Given the description of an element on the screen output the (x, y) to click on. 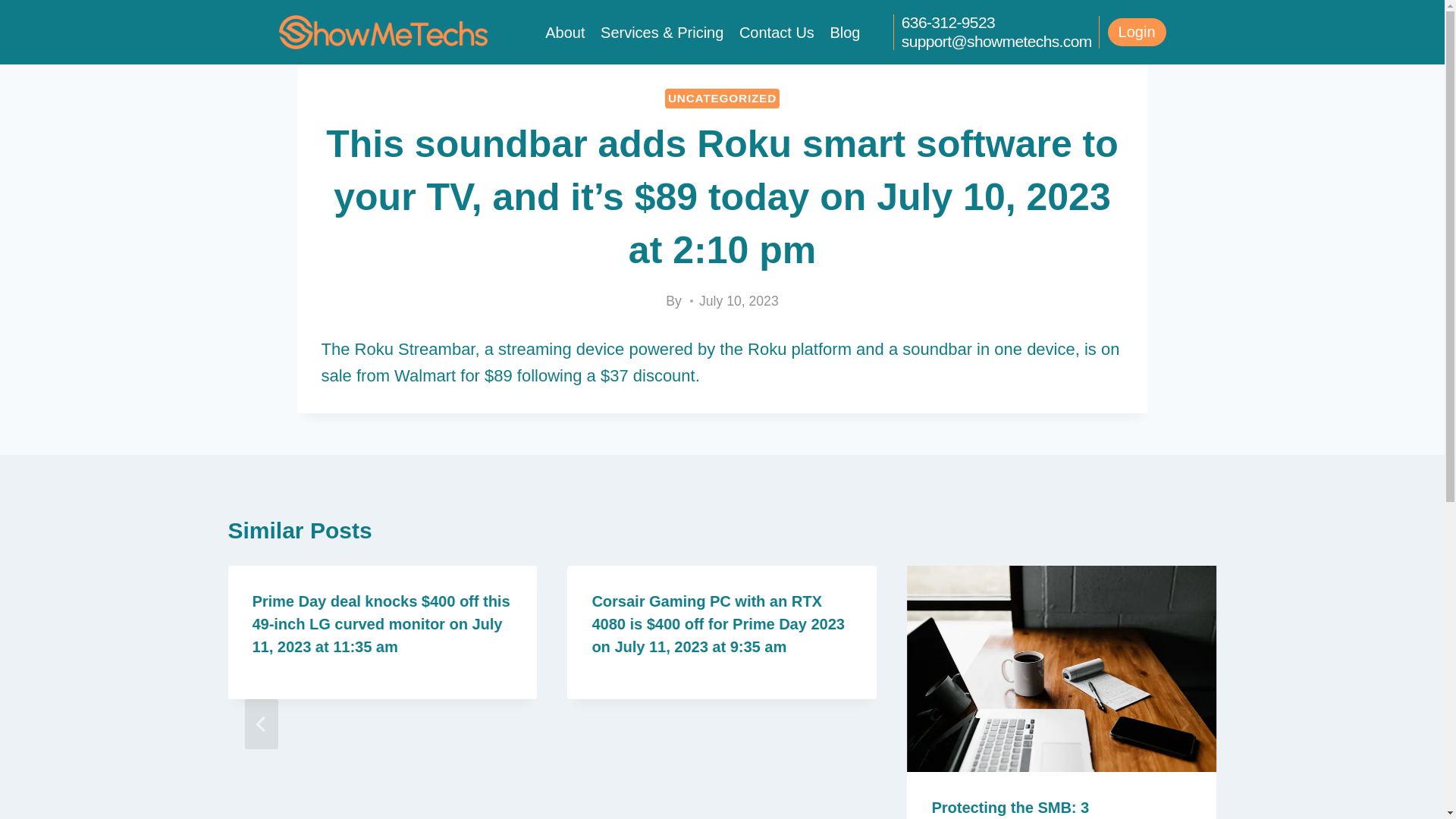
Login (1137, 31)
UNCATEGORIZED (721, 98)
636-312-9523 (947, 22)
